Given the description of an element on the screen output the (x, y) to click on. 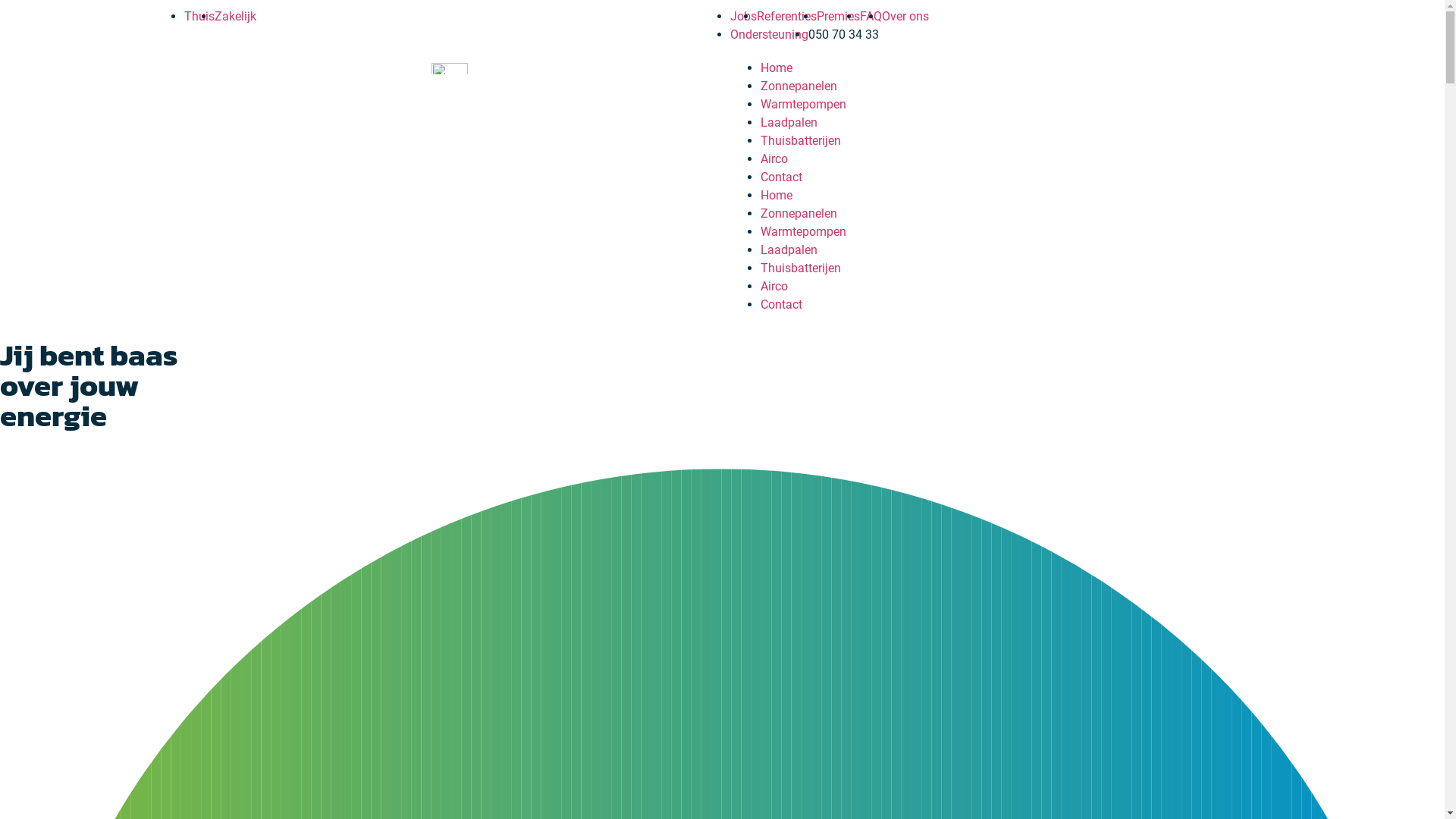
Contact Element type: text (780, 176)
Zonnepanelen Element type: text (797, 85)
Laadpalen Element type: text (787, 249)
Contact Element type: text (780, 304)
FAQ Element type: text (870, 16)
Home Element type: text (775, 67)
Airco Element type: text (773, 158)
Thuisbatterijen Element type: text (799, 140)
Jobs Element type: text (742, 16)
Home Element type: text (775, 195)
Zonnepanelen Element type: text (797, 213)
Airco Element type: text (773, 286)
Ondersteuning Element type: text (768, 34)
Referenties Element type: text (786, 16)
Thuisbatterijen Element type: text (799, 267)
Warmtepompen Element type: text (802, 104)
Laadpalen Element type: text (787, 122)
Zakelijk Element type: text (234, 16)
Warmtepompen Element type: text (802, 231)
Over ons Element type: text (904, 16)
Thuis Element type: text (198, 16)
Premies Element type: text (837, 16)
